Given the description of an element on the screen output the (x, y) to click on. 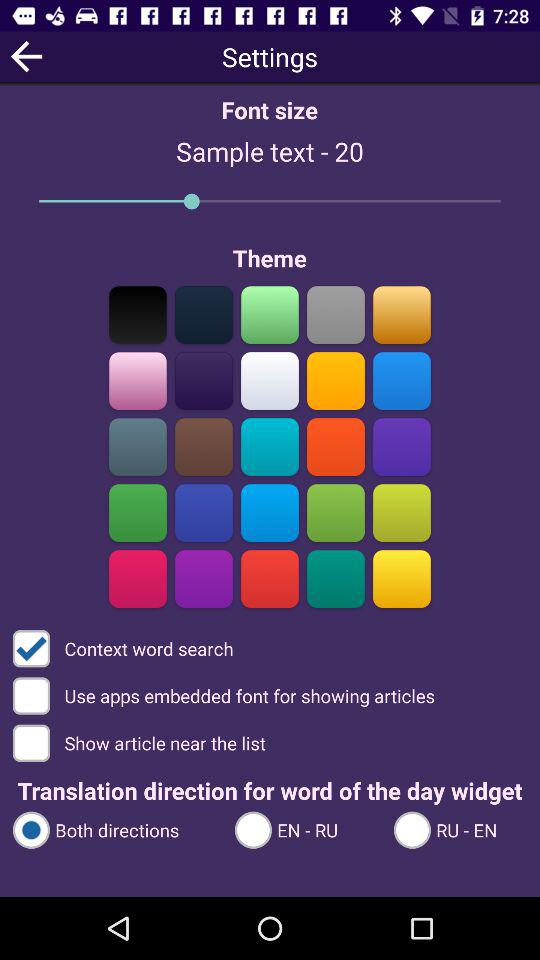
select color (137, 446)
